Given the description of an element on the screen output the (x, y) to click on. 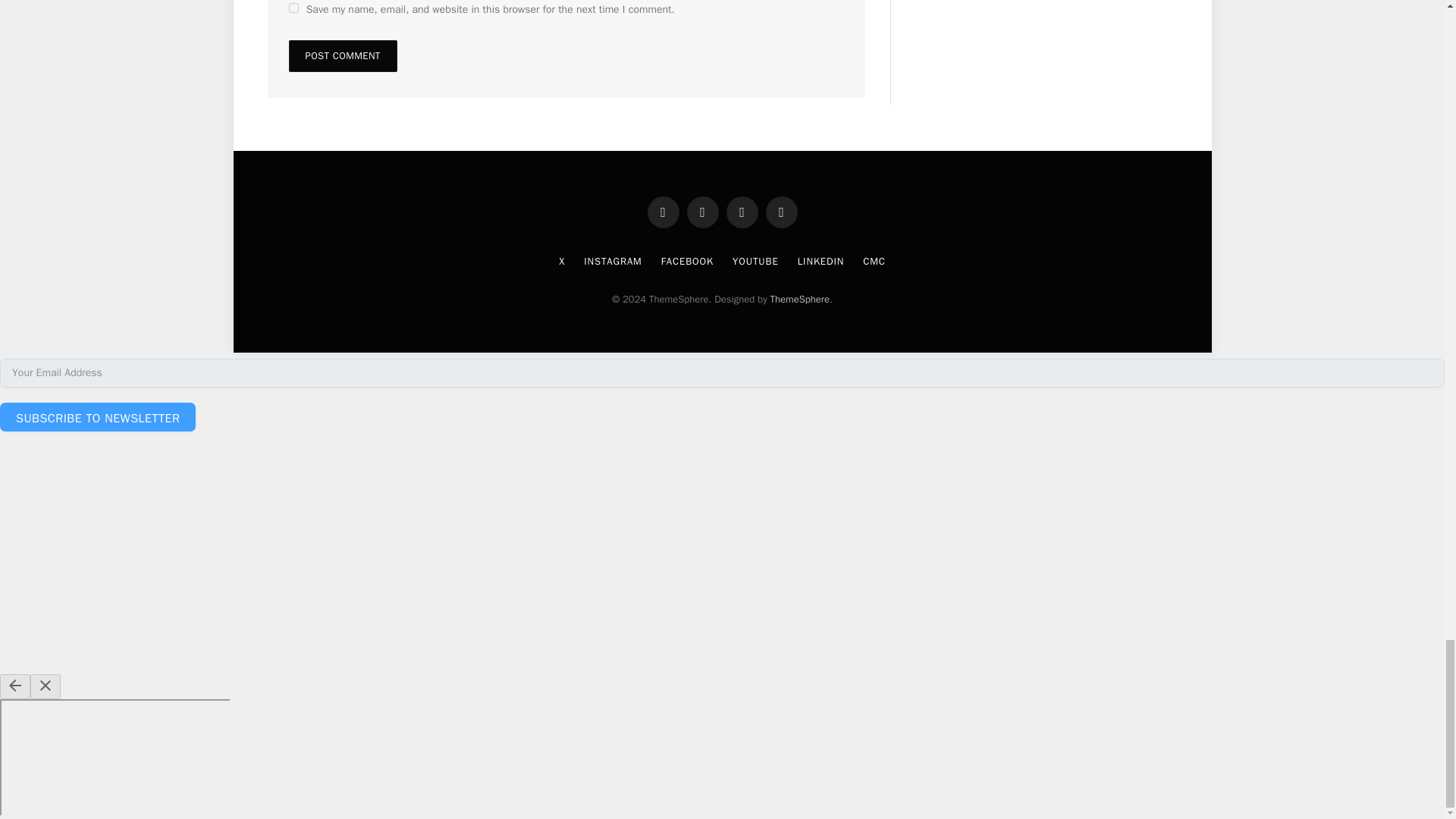
yes (293, 8)
Post Comment (342, 56)
